Given the description of an element on the screen output the (x, y) to click on. 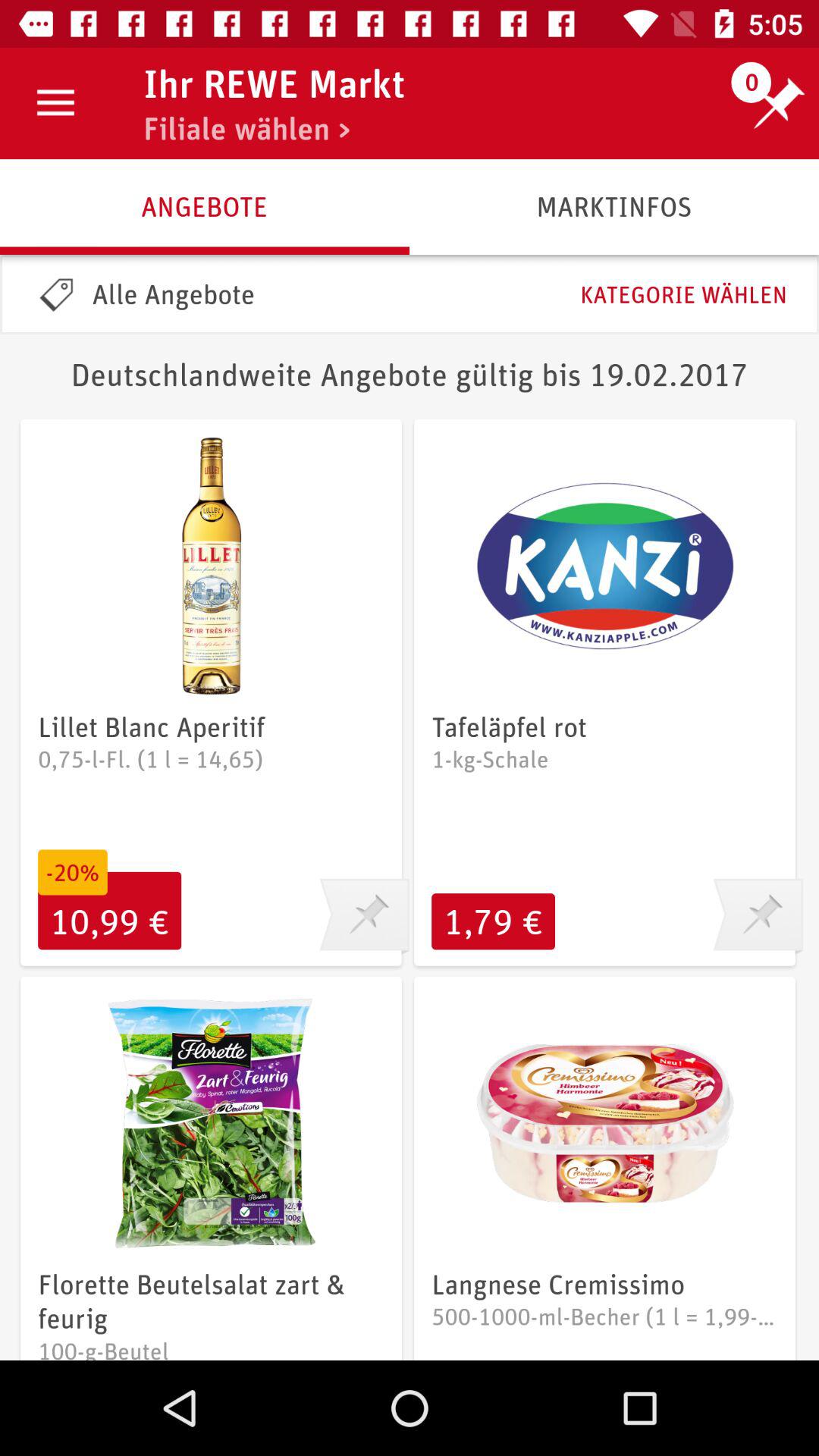
pin this (364, 917)
